Given the description of an element on the screen output the (x, y) to click on. 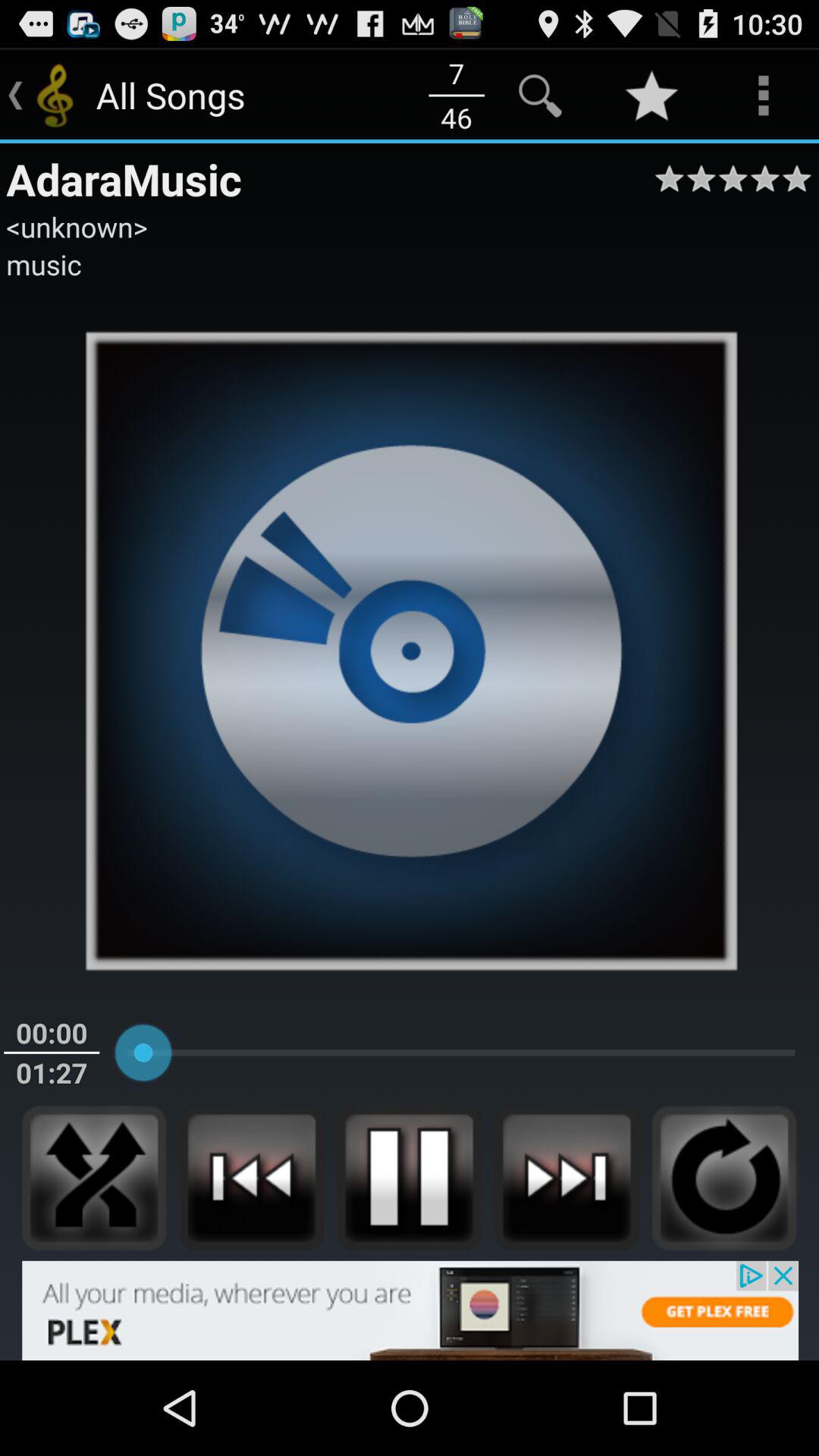
music player (566, 1177)
